Given the description of an element on the screen output the (x, y) to click on. 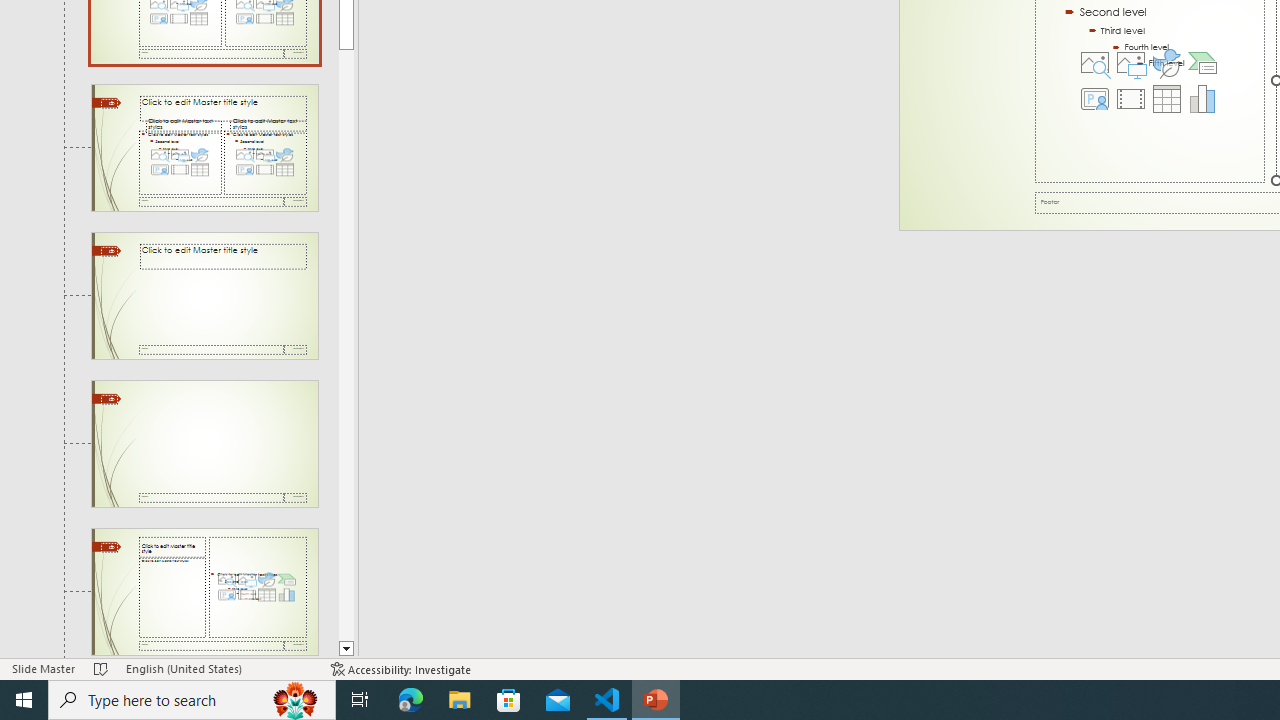
Insert an Icon (1166, 62)
Insert Table (1166, 98)
Pictures (1130, 62)
Slide Blank Layout: used by no slides (204, 592)
Insert Cameo (1095, 98)
Slide Two Content Layout: used by no slides (204, 147)
Slide Comparison Layout: used by no slides (204, 296)
Insert Chart (1202, 98)
Slide Title Only Layout: used by no slides (204, 443)
Insert a SmartArt Graphic (1202, 62)
Stock Images (1095, 62)
